Given the description of an element on the screen output the (x, y) to click on. 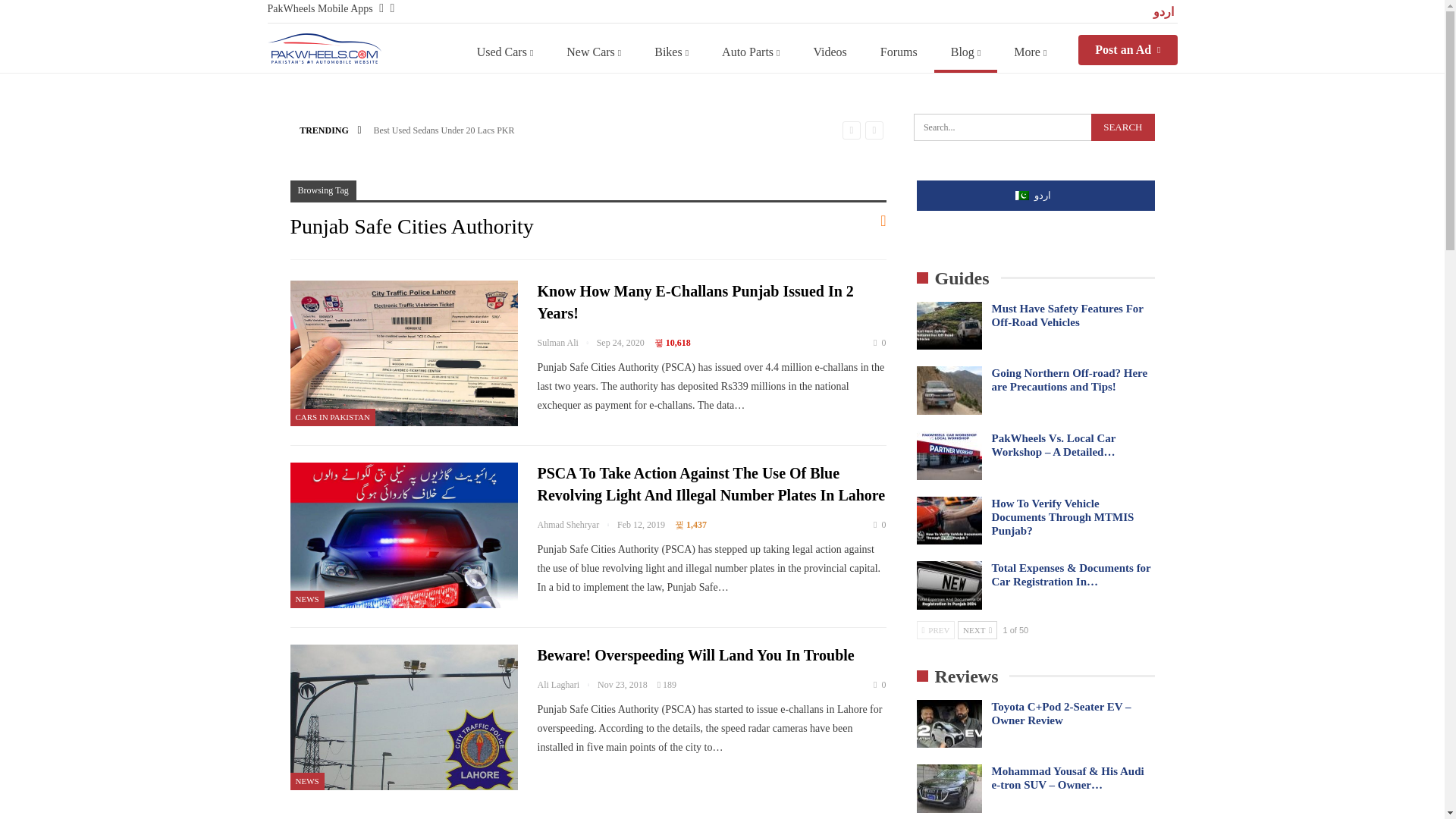
Blog (965, 51)
Videos (829, 51)
Auto Parts (750, 51)
Search (1122, 126)
Forums (898, 51)
PakWheels Mobile Apps (319, 8)
Bikes (670, 51)
New Cars (593, 51)
Search (1122, 126)
Used Cars (505, 51)
Used Cars for sale in Pakistan (505, 51)
PakWheels Blog (323, 48)
